Given the description of an element on the screen output the (x, y) to click on. 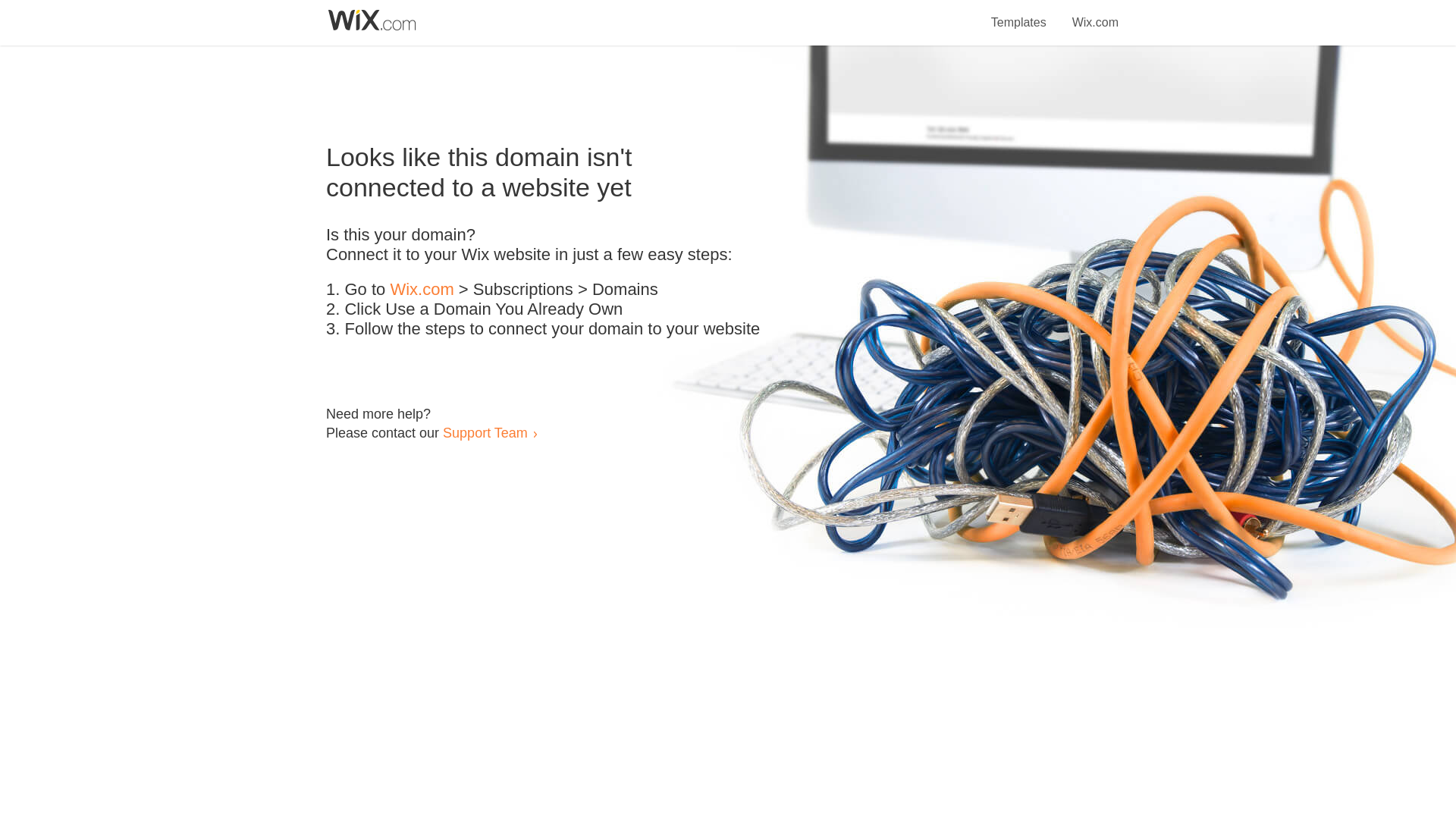
Templates (1018, 14)
Wix.com (1095, 14)
Support Team (484, 432)
Wix.com (421, 289)
